Given the description of an element on the screen output the (x, y) to click on. 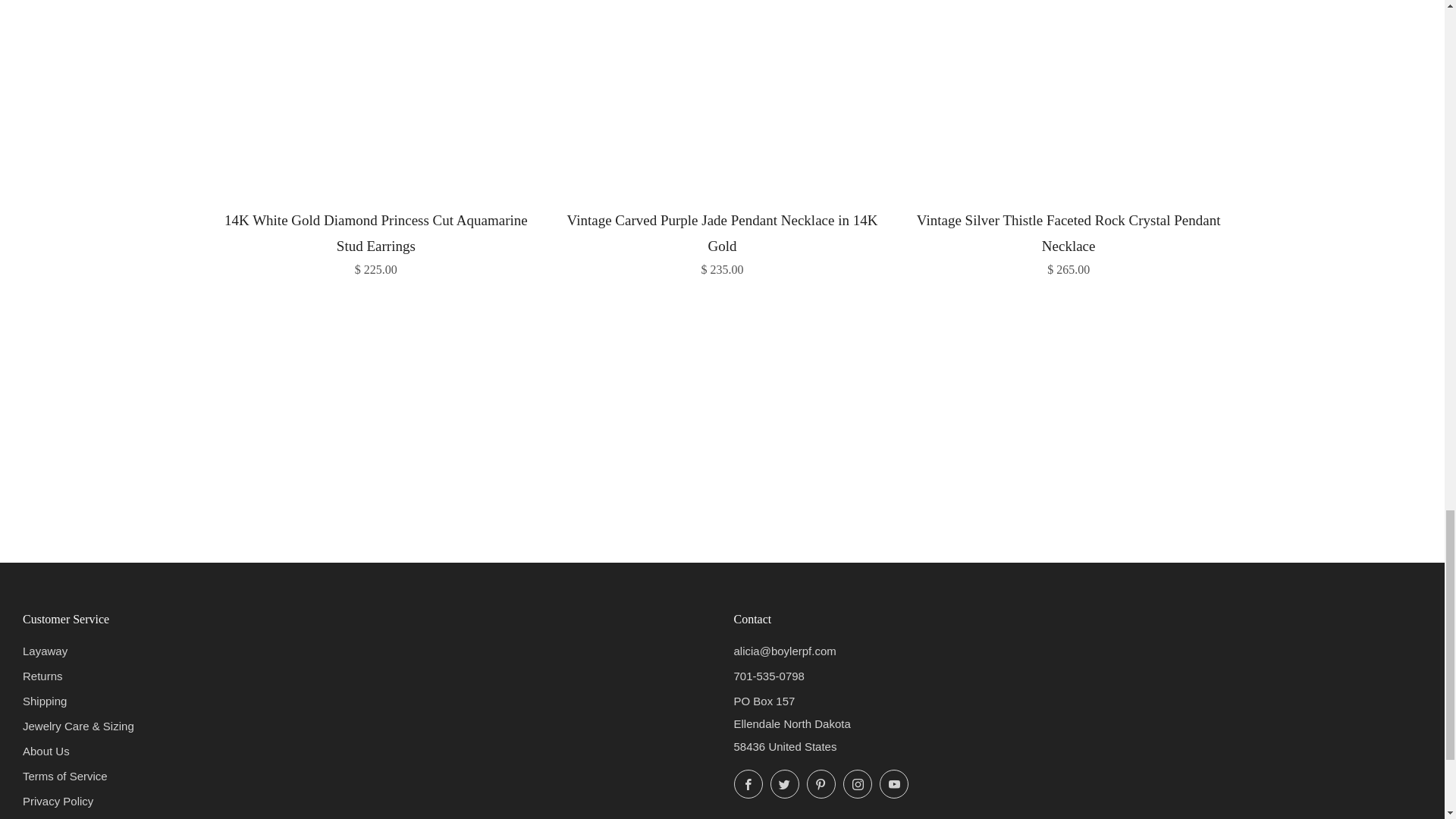
Vintage Silver Thistle Faceted Rock Crystal Pendant Necklace (1068, 242)
Vintage Carved Purple Jade Pendant Necklace in 14K Gold (721, 242)
14K White Gold Diamond Princess Cut Aquamarine Stud Earrings (376, 242)
